Given the description of an element on the screen output the (x, y) to click on. 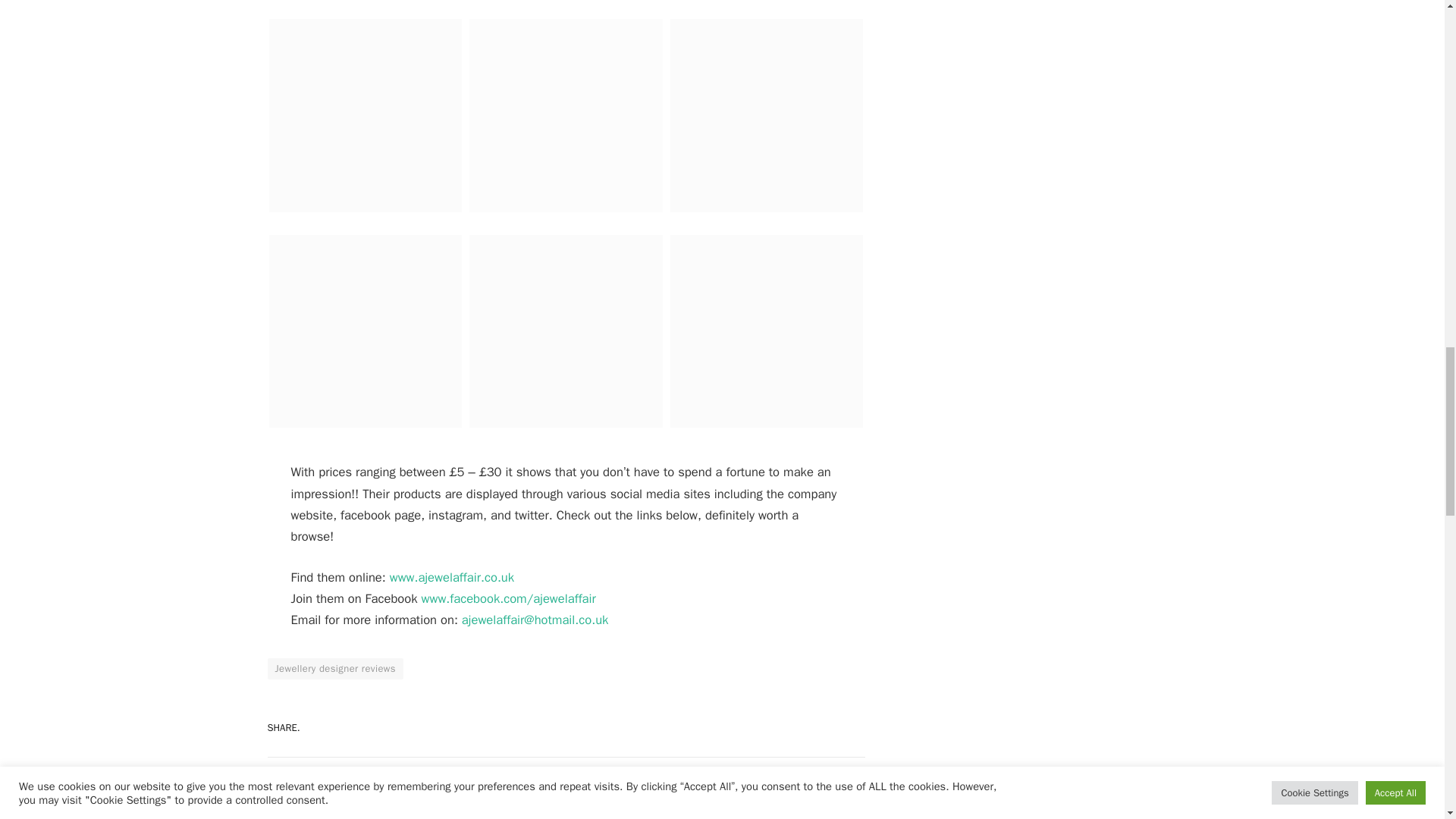
Jewellery Monthly (406, 791)
Pinterest (678, 727)
Tumblr (784, 727)
email (534, 619)
My Affair with Jewellery (451, 577)
Email (837, 727)
Facebook (572, 727)
www.ajewelaffair.co.uk (451, 577)
LinkedIn (731, 727)
Twitter (625, 727)
find us on Facebook (508, 598)
Share on Facebook (572, 727)
Jewellery designer reviews (334, 668)
